Given the description of an element on the screen output the (x, y) to click on. 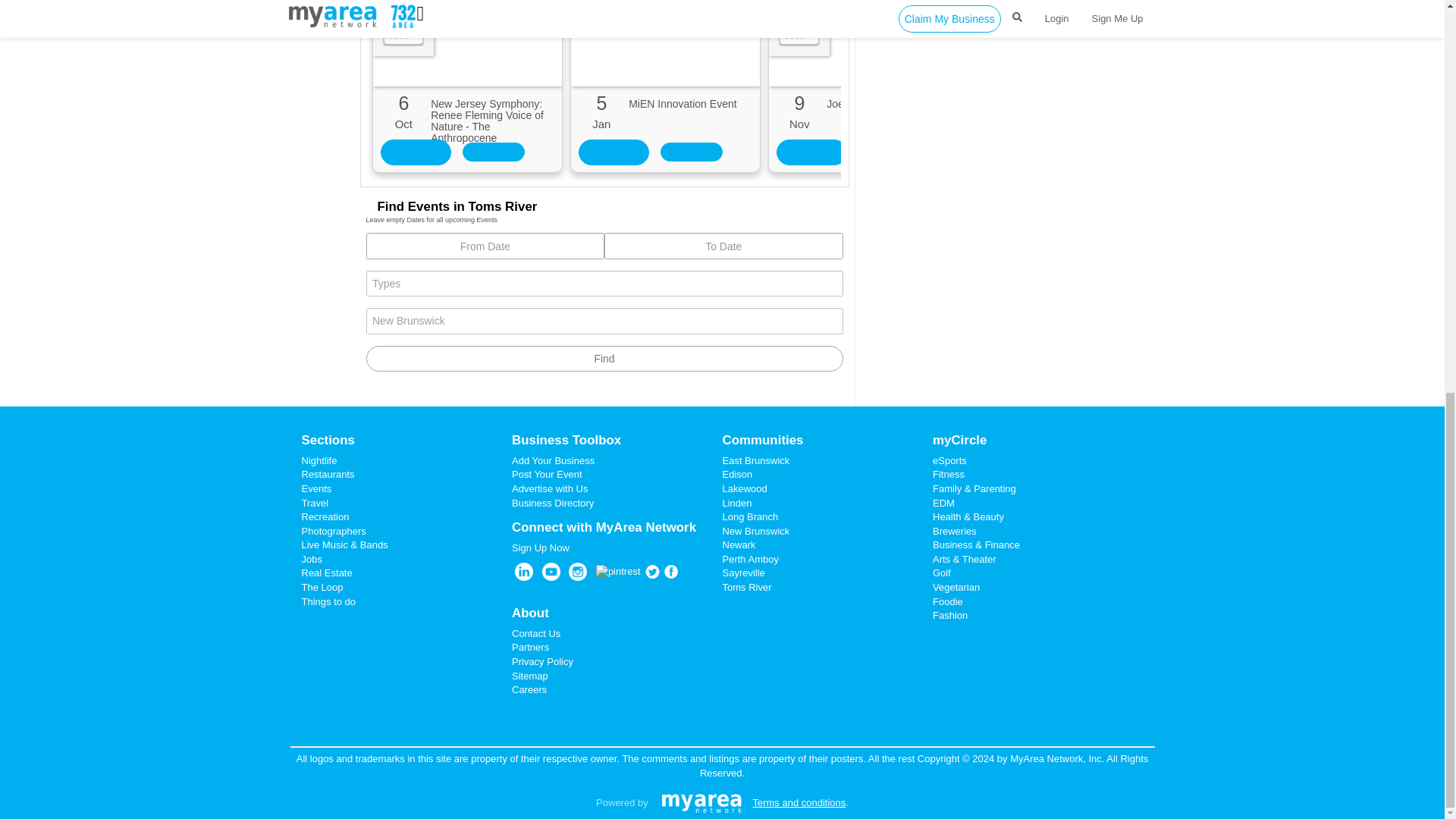
Find (604, 358)
